Given the description of an element on the screen output the (x, y) to click on. 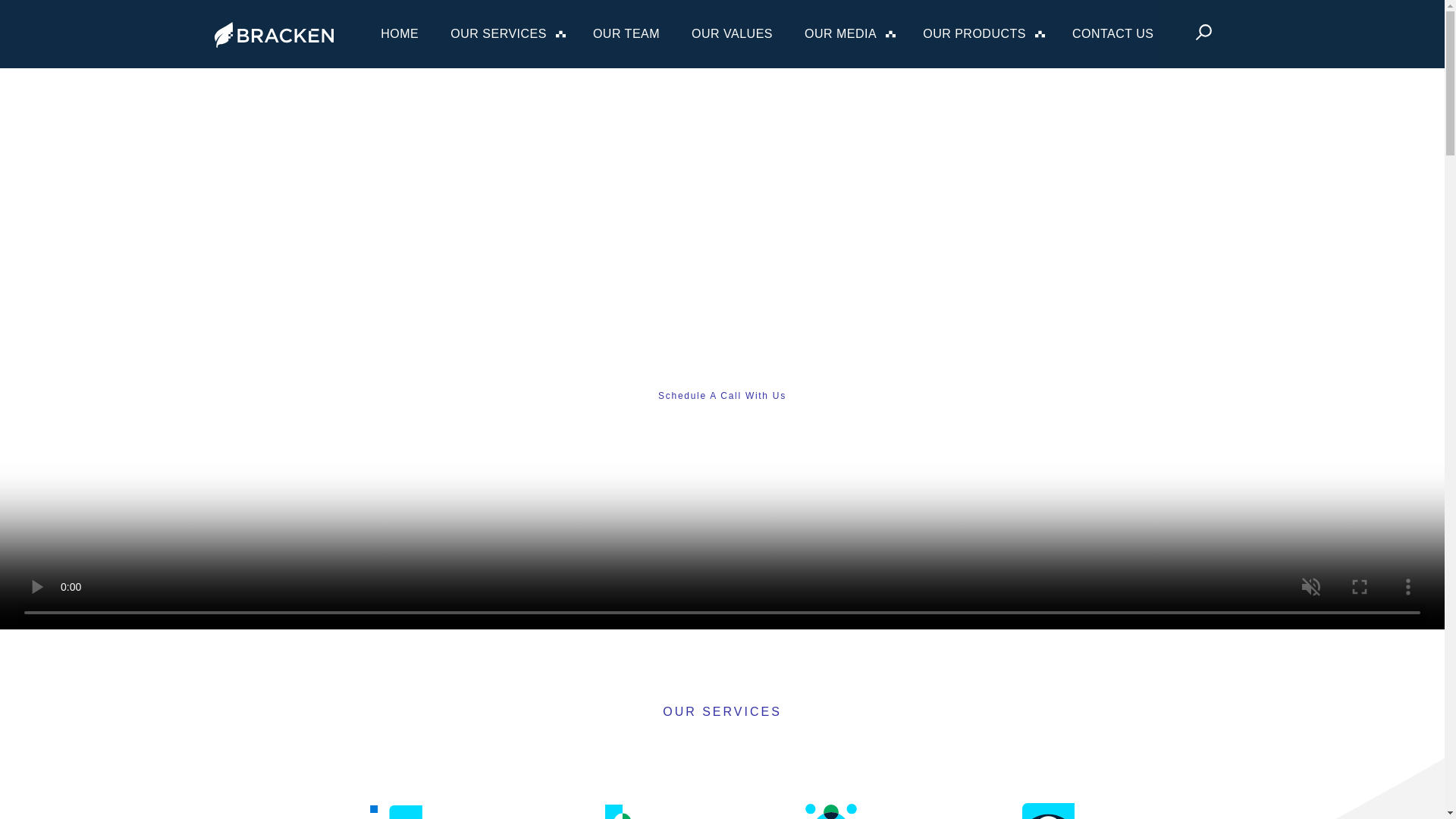
OUR VALUES (732, 33)
CONTACT US (1113, 33)
OUR MEDIA (848, 33)
OUR SERVICES (504, 33)
HOME (406, 33)
OUR PRODUCTS (982, 33)
OUR TEAM (625, 33)
Schedule A Call With Us (721, 394)
